Given the description of an element on the screen output the (x, y) to click on. 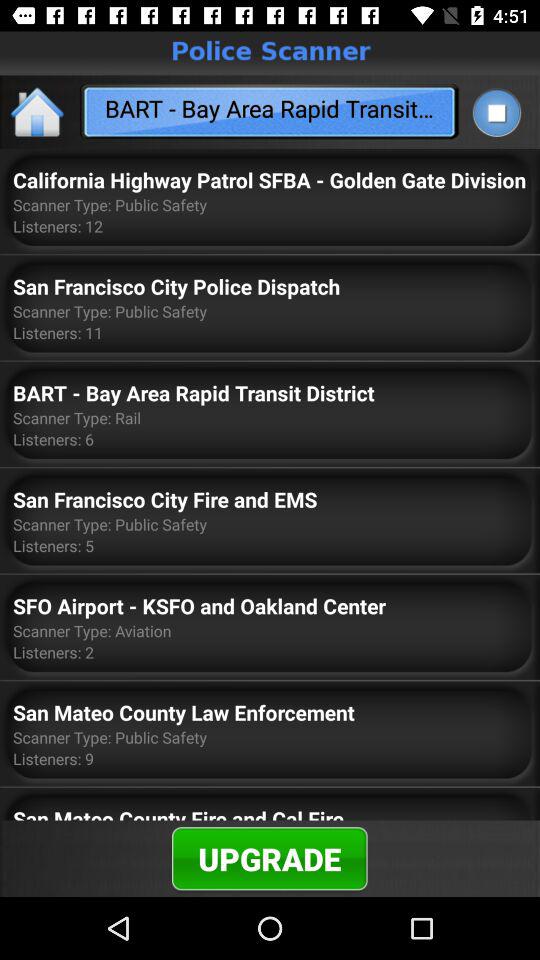
pause toggle (496, 111)
